Given the description of an element on the screen output the (x, y) to click on. 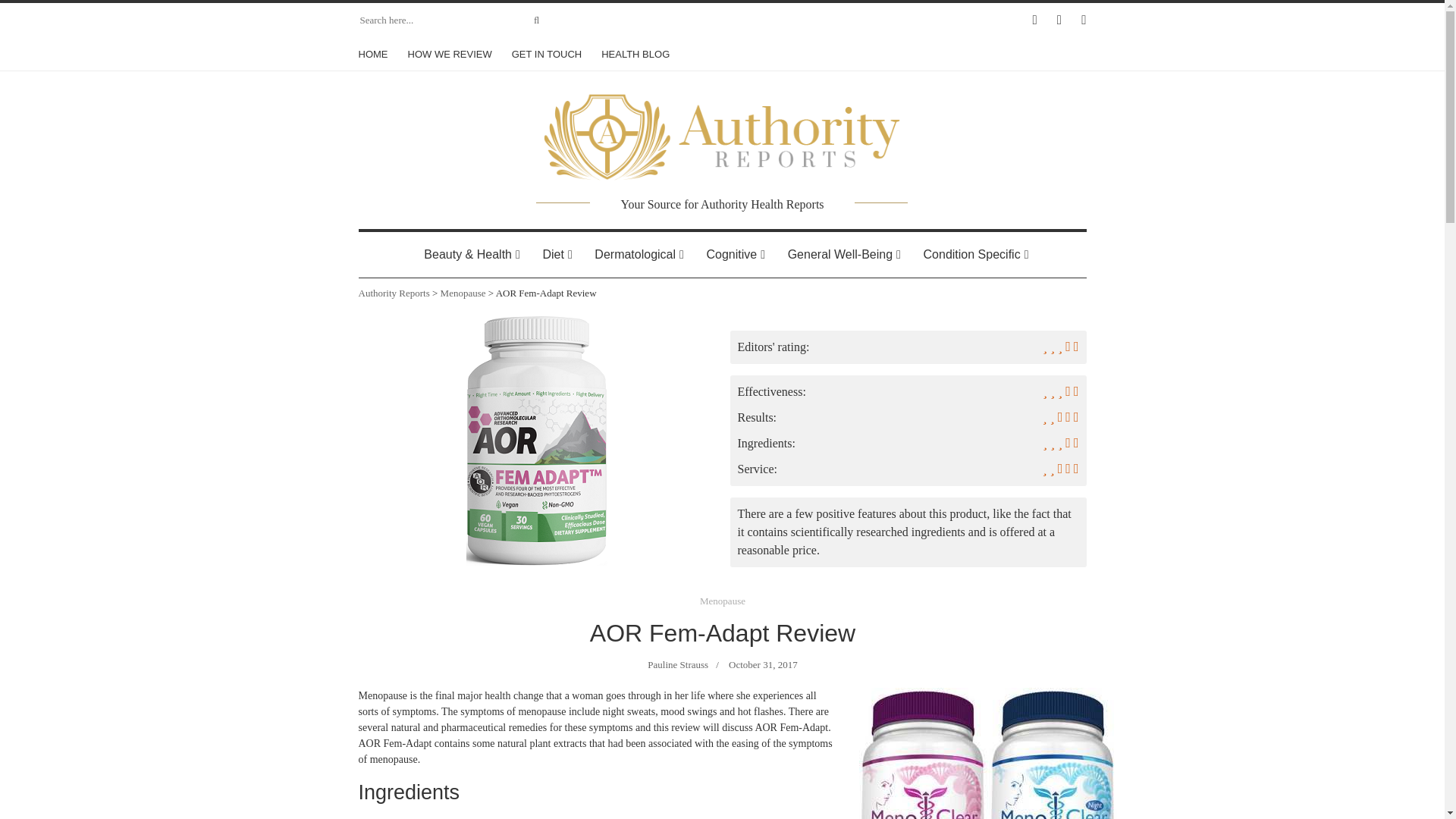
Results: 2.5 (907, 421)
Posts by Pauline Strauss (677, 664)
HOW WE REVIEW (449, 54)
Diet (552, 254)
Service: 2.5 (907, 473)
Ingredients: 3 (907, 447)
HOME (377, 54)
GET IN TOUCH (546, 54)
Go to the Menopause Category archives. (463, 292)
HEALTH BLOG (635, 54)
